Given the description of an element on the screen output the (x, y) to click on. 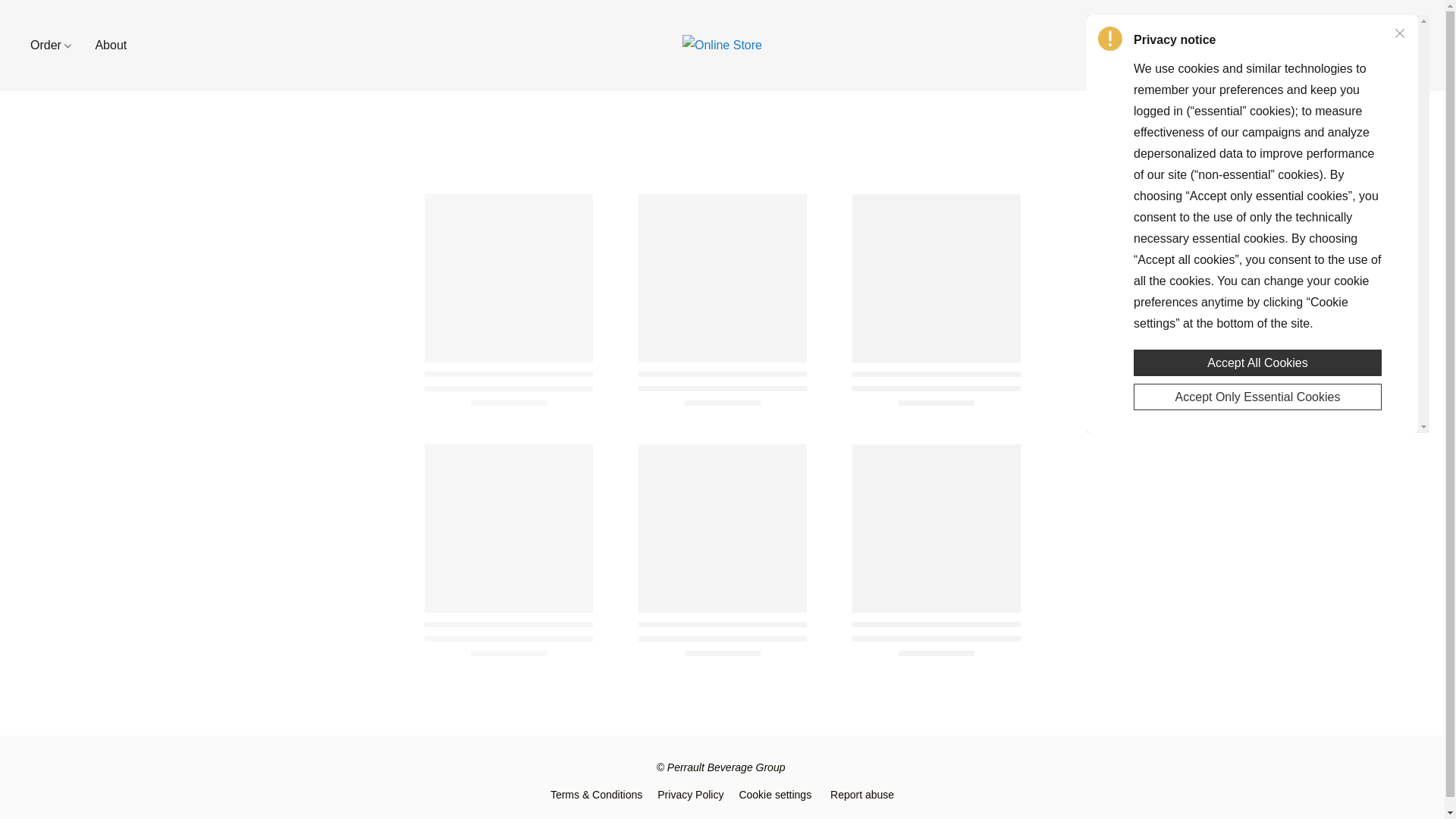
Report abuse (861, 794)
Order (56, 45)
Accept All Cookies (1257, 357)
Accept Only Essential Cookies (1257, 394)
Search the website (1363, 45)
Go to your shopping cart (1404, 45)
Privacy Policy (690, 794)
About (104, 45)
